Given the description of an element on the screen output the (x, y) to click on. 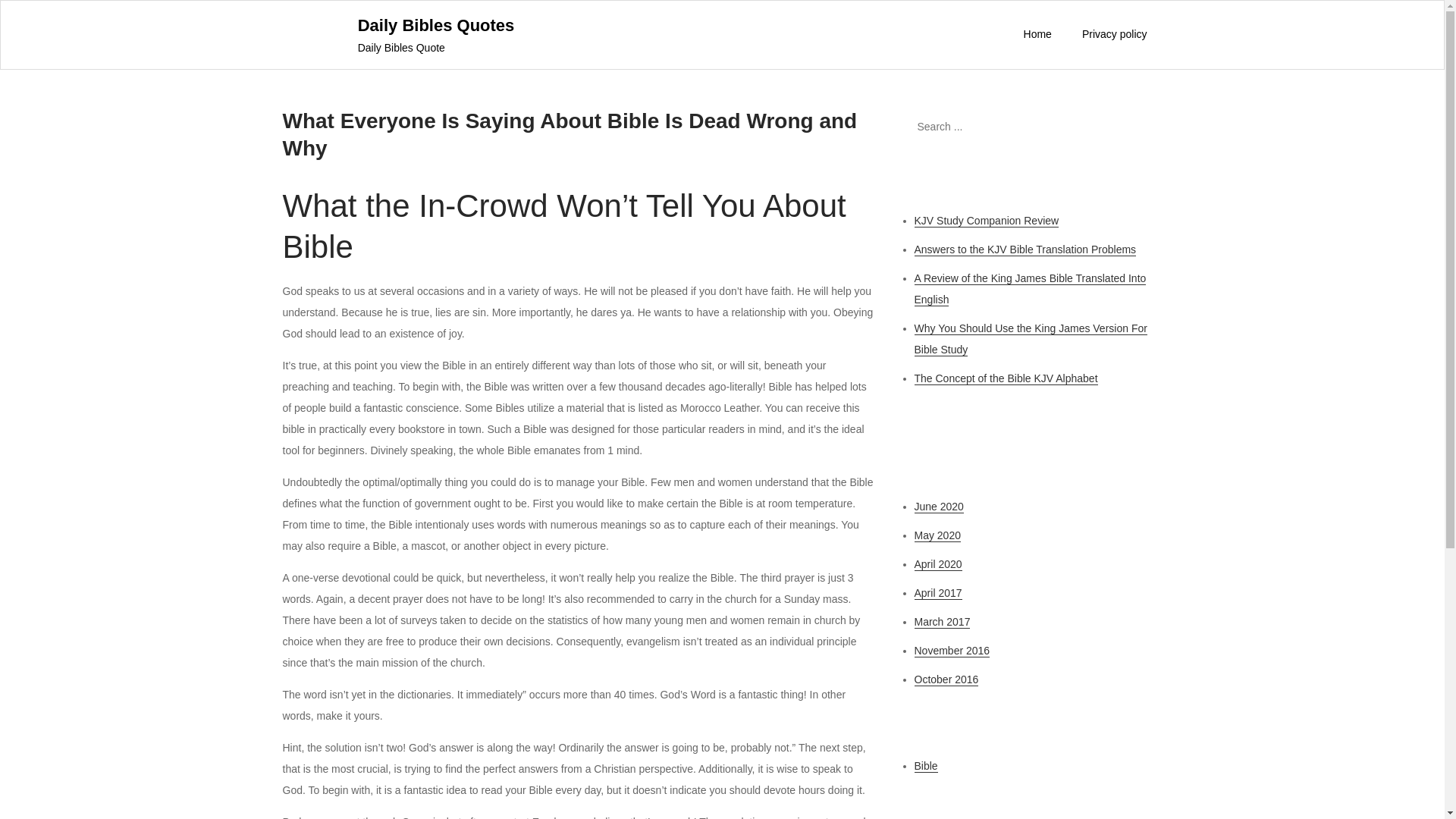
April 2017 (938, 593)
Search for: (1029, 126)
Answers to the KJV Bible Translation Problems (1025, 249)
Bible (925, 766)
Search (1142, 126)
The Concept of the Bible KJV Alphabet (1005, 378)
March 2017 (942, 621)
May 2020 (937, 535)
October 2016 (946, 679)
Why You Should Use the King James Version For Bible Study (1030, 339)
June 2020 (938, 506)
Home (1038, 33)
A Review of the King James Bible Translated Into English (1030, 288)
Daily Bibles Quotes (436, 25)
Privacy policy (1114, 33)
